Given the description of an element on the screen output the (x, y) to click on. 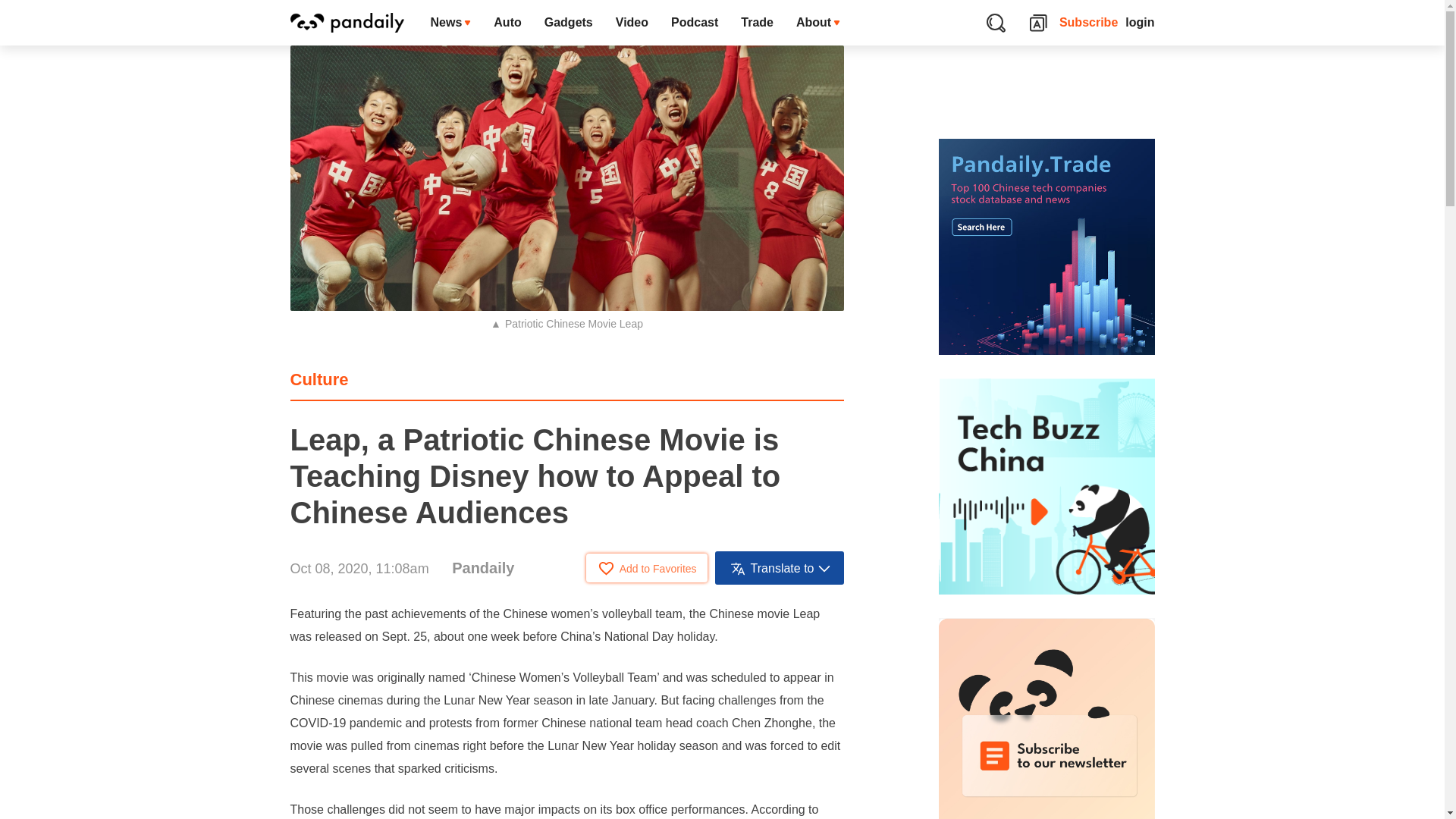
login (1139, 22)
Auto (506, 22)
Subscribe (1088, 22)
Gadgets (568, 22)
News (450, 22)
Podcast (694, 22)
Add to Favorites (646, 567)
Video (631, 22)
About (817, 22)
